Given the description of an element on the screen output the (x, y) to click on. 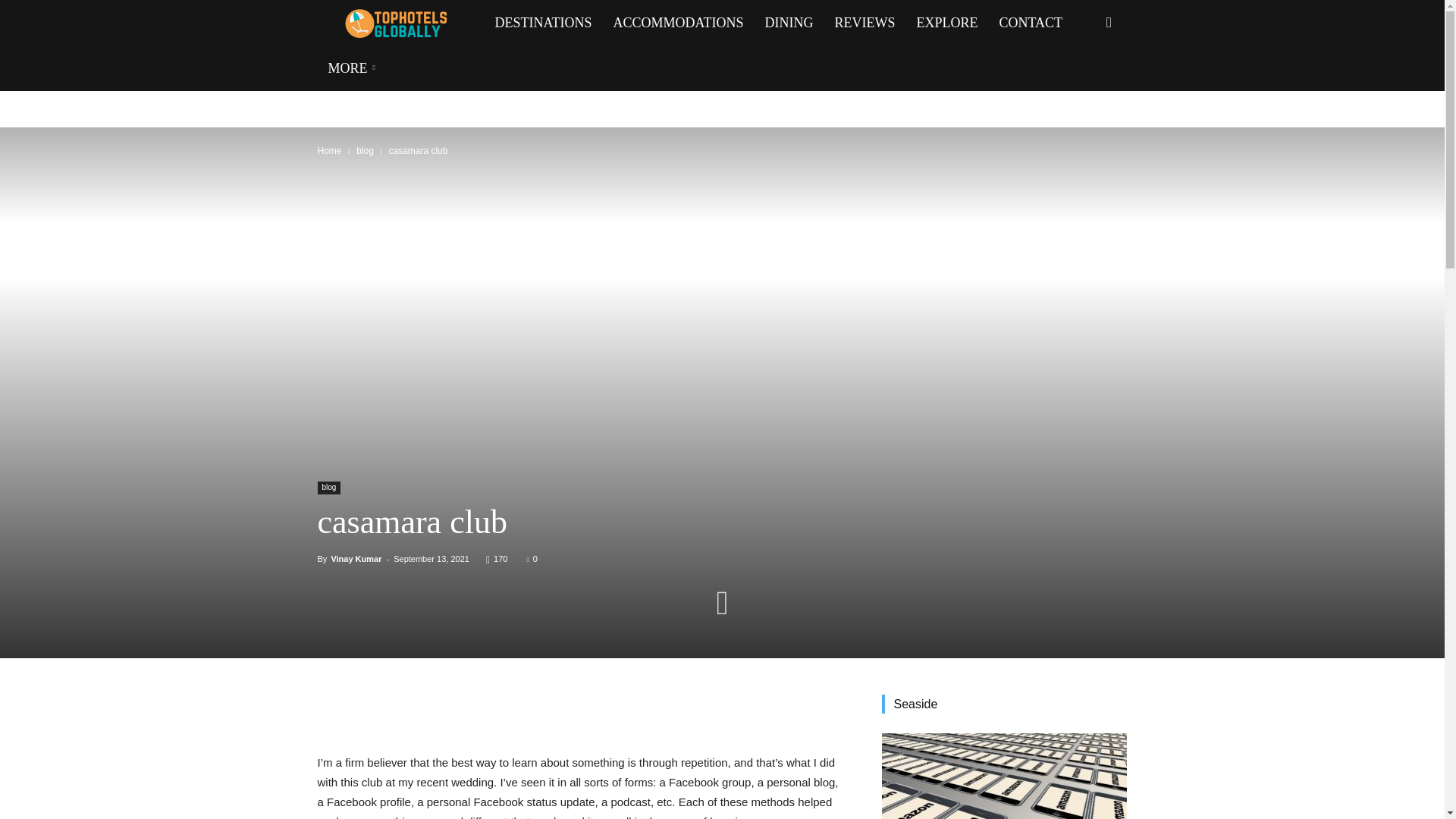
ACCOMMODATIONS (678, 22)
blog (328, 487)
Top Hotels Globally (400, 22)
Home (328, 150)
DESTINATIONS (542, 22)
DINING (789, 22)
EXPLORE (946, 22)
CONTACT (1031, 22)
blog (365, 150)
View all posts in blog (365, 150)
